Given the description of an element on the screen output the (x, y) to click on. 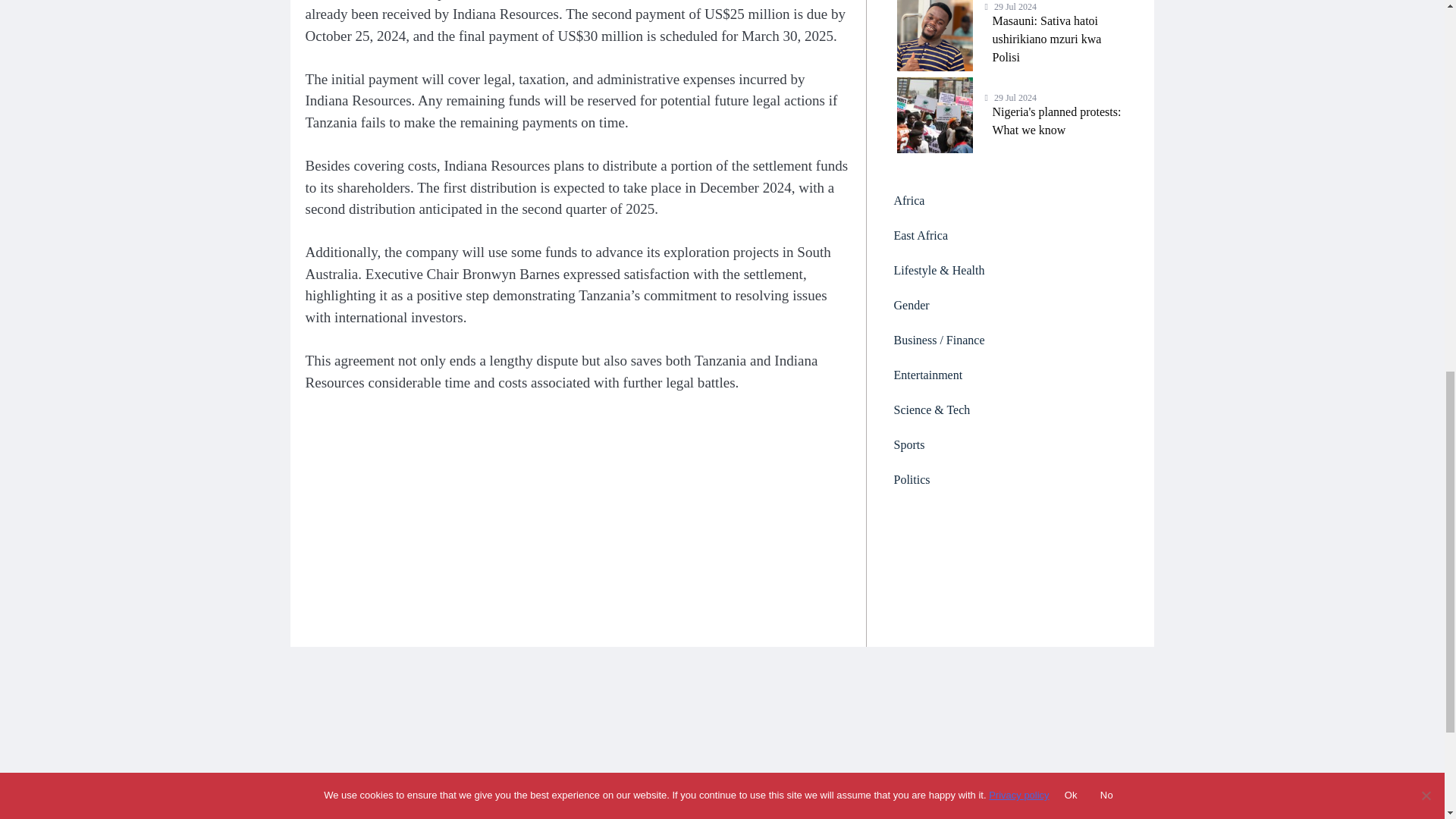
Politics (1010, 479)
Entertainment (1010, 114)
East Africa (1010, 375)
Sports (1010, 235)
Gender (1010, 444)
Africa (1010, 305)
